Given the description of an element on the screen output the (x, y) to click on. 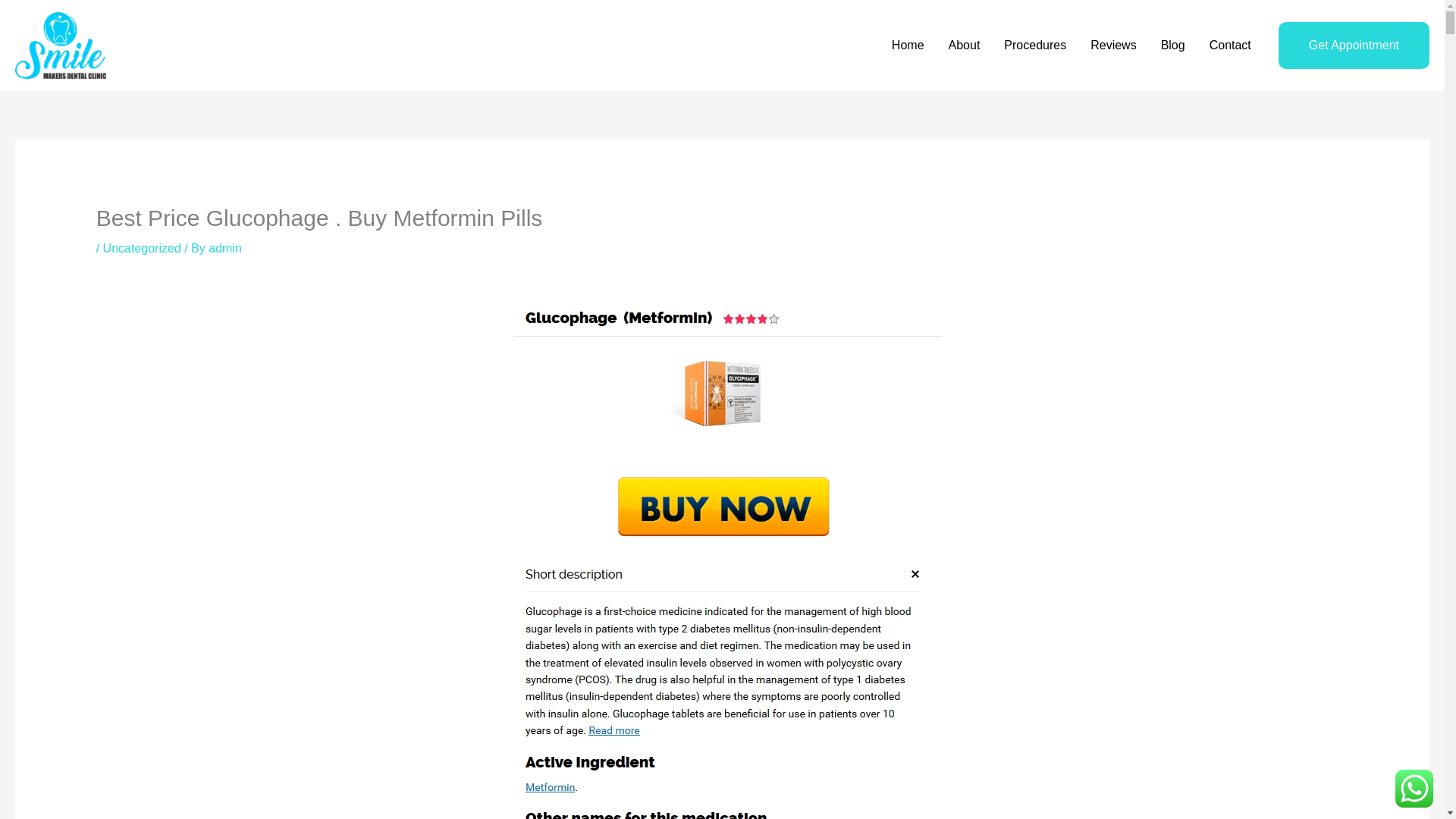
About (964, 45)
admin (224, 247)
Get Appointment (1353, 45)
Uncategorized (141, 247)
Procedures (1034, 45)
Blog (1172, 45)
Reviews (1113, 45)
Home (907, 45)
Contact (1229, 45)
View all posts by admin (224, 247)
